Given the description of an element on the screen output the (x, y) to click on. 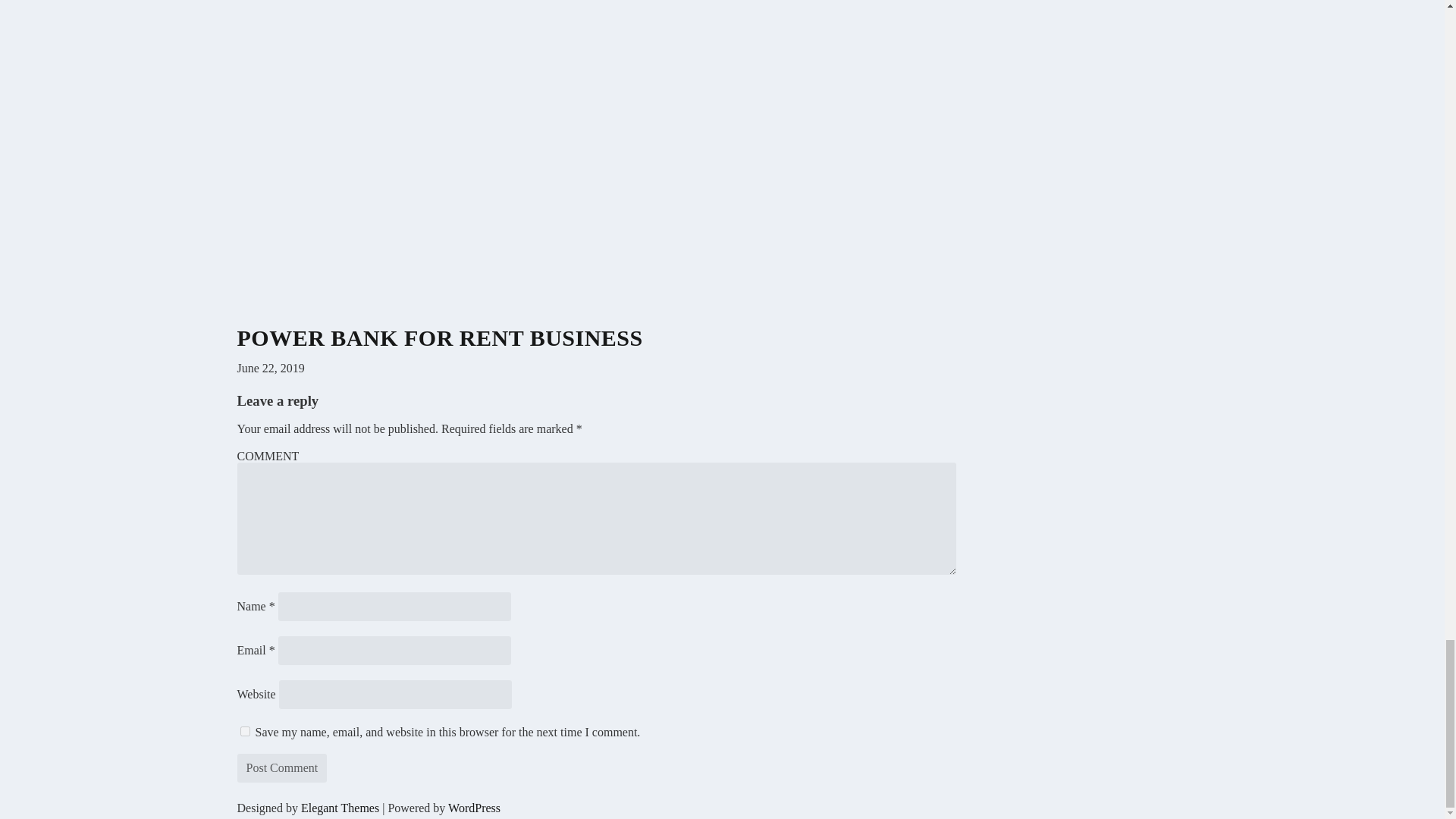
yes (244, 731)
Post Comment (280, 767)
Post Comment (280, 767)
POWER BANK FOR RENT BUSINESS (438, 337)
